Given the description of an element on the screen output the (x, y) to click on. 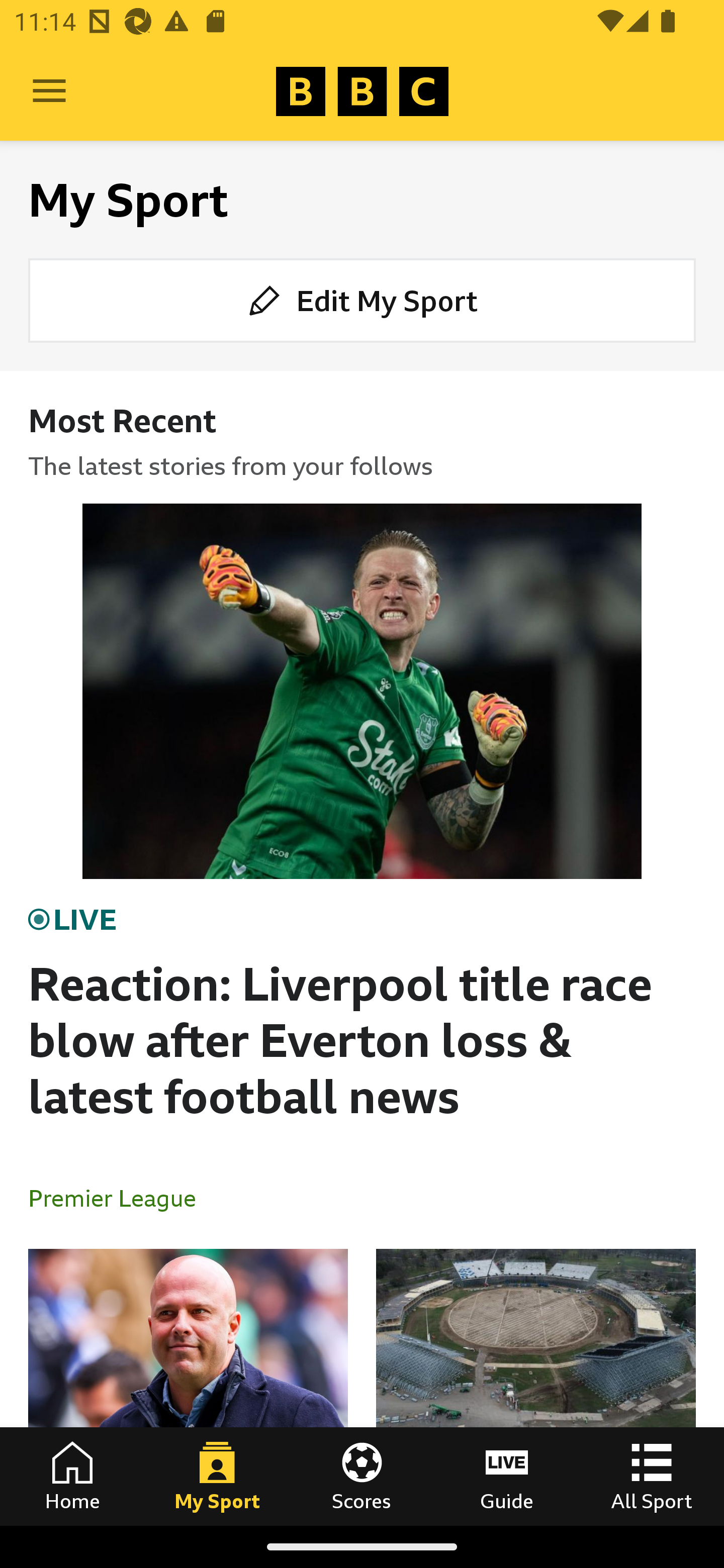
Open Menu (49, 91)
Edit My Sport (361, 300)
Premier League In the section Premier League (119, 1197)
Slot philosophy could suit Liverpool - Van Dijk (188, 1386)
Home (72, 1475)
Scores (361, 1475)
Guide (506, 1475)
All Sport (651, 1475)
